Given the description of an element on the screen output the (x, y) to click on. 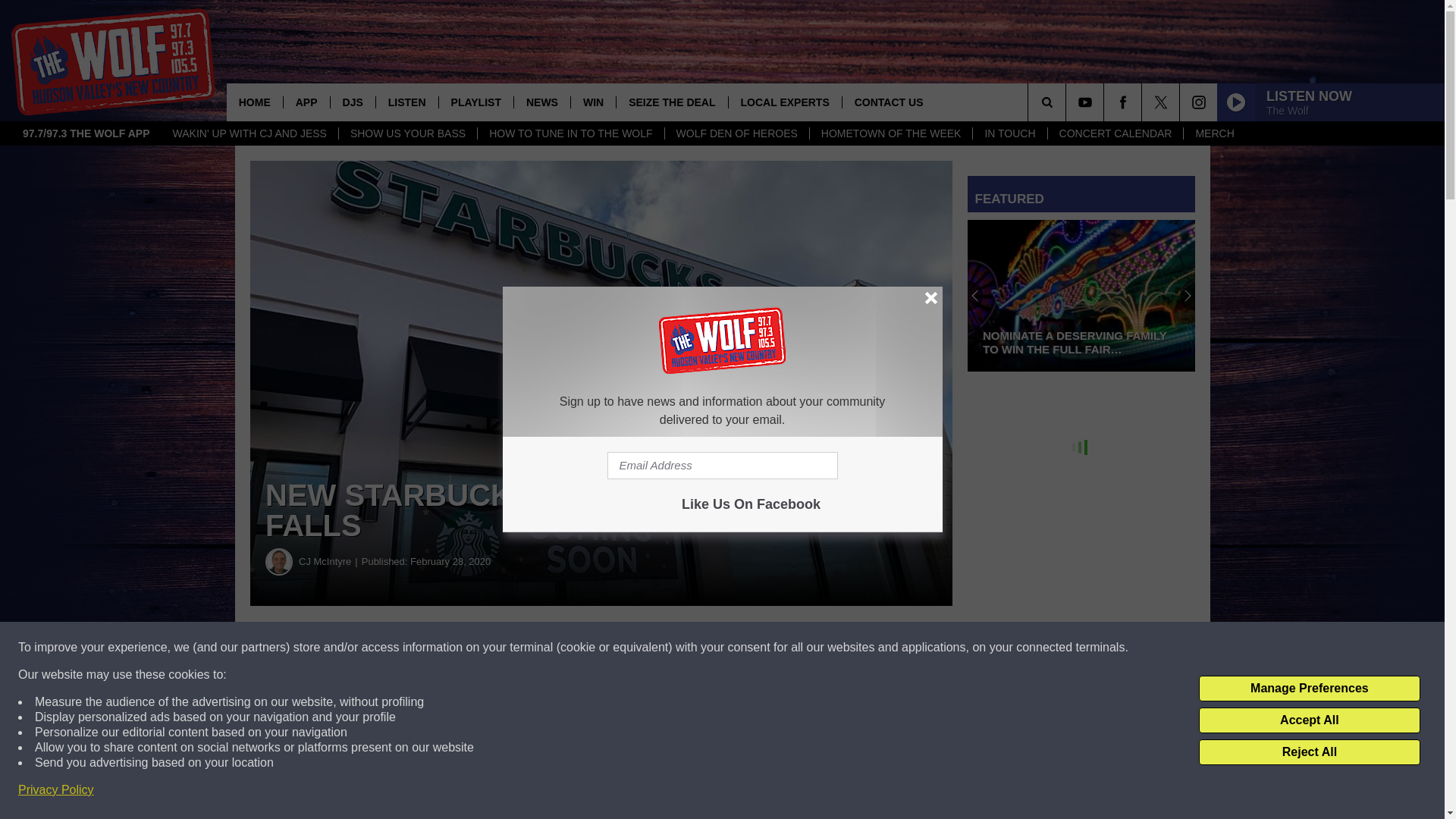
IN TOUCH (1009, 133)
Email Address (722, 465)
SEIZE THE DEAL (670, 102)
HOMETOWN OF THE WEEK (890, 133)
Accept All (1309, 720)
SEARCH (1068, 102)
SEARCH (1068, 102)
Reject All (1309, 751)
APP (306, 102)
HOME (254, 102)
WIN (592, 102)
SHOW US YOUR BASS (407, 133)
Manage Preferences (1309, 688)
MERCH (1213, 133)
CONCERT CALENDAR (1114, 133)
